Given the description of an element on the screen output the (x, y) to click on. 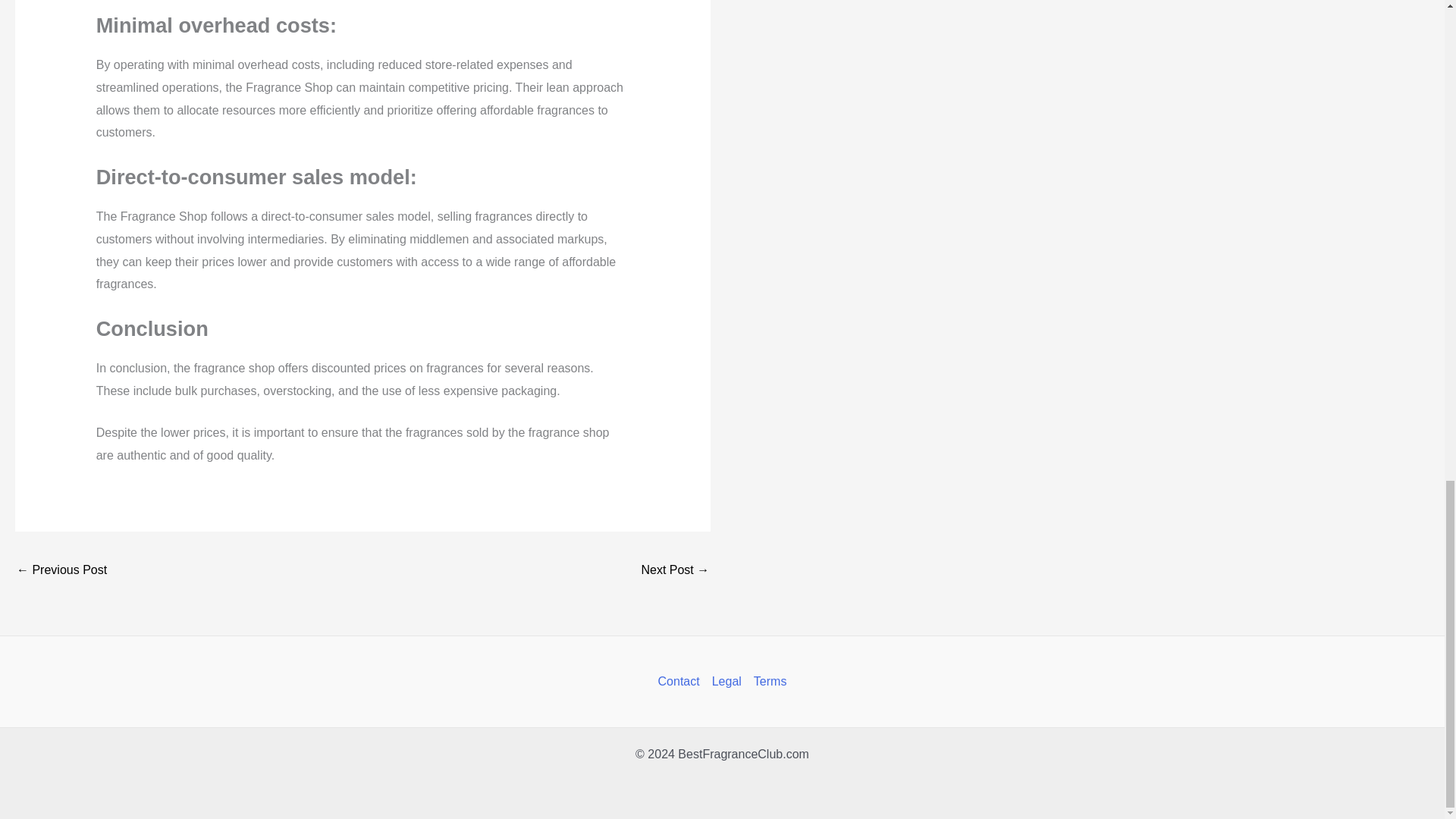
Why Fragrances Can Be So Expensive (61, 571)
Legal (727, 681)
Contact (682, 681)
Terms (767, 681)
